Given the description of an element on the screen output the (x, y) to click on. 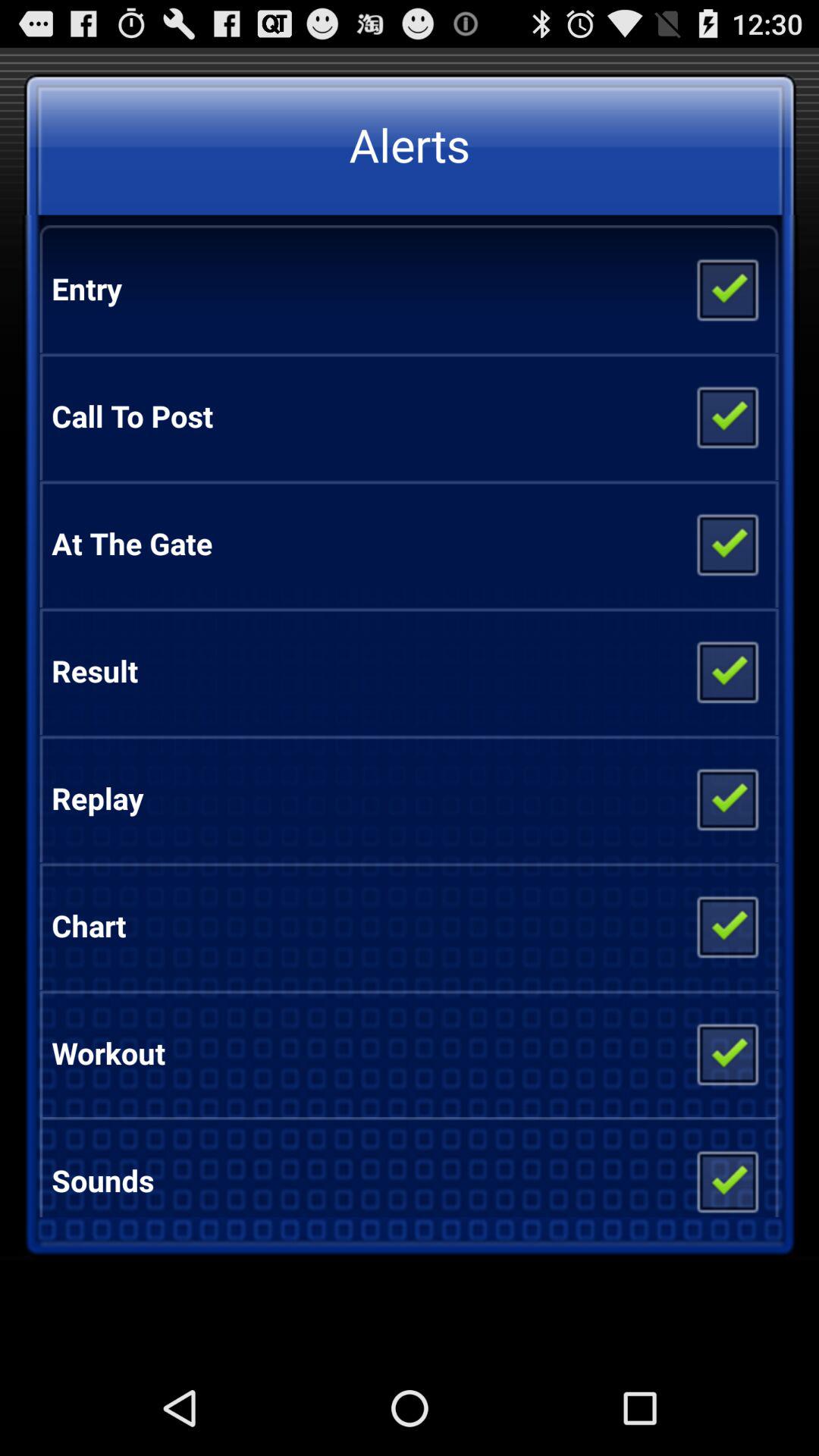
activate media replay (726, 798)
